Given the description of an element on the screen output the (x, y) to click on. 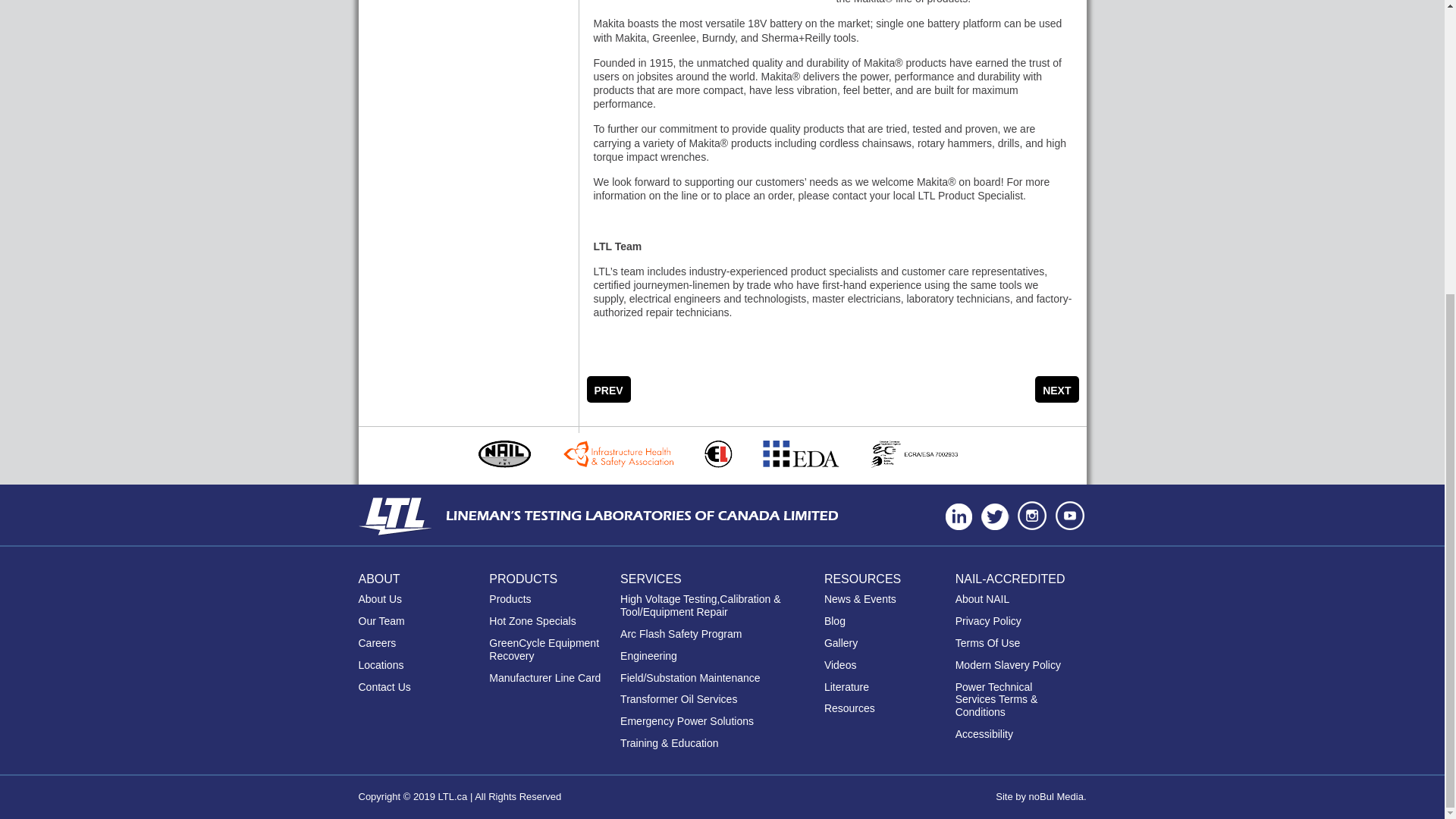
Our Team (381, 621)
Contact Us (384, 686)
Products (510, 599)
Follow us on Twitter (994, 516)
Careers (377, 643)
Find us on LinkedIN (958, 516)
NEXT (1056, 388)
Follow us on Instagram (1031, 515)
Lineman's Testing Laboratories Of Canada Limited (401, 515)
PREV (608, 388)
